Given the description of an element on the screen output the (x, y) to click on. 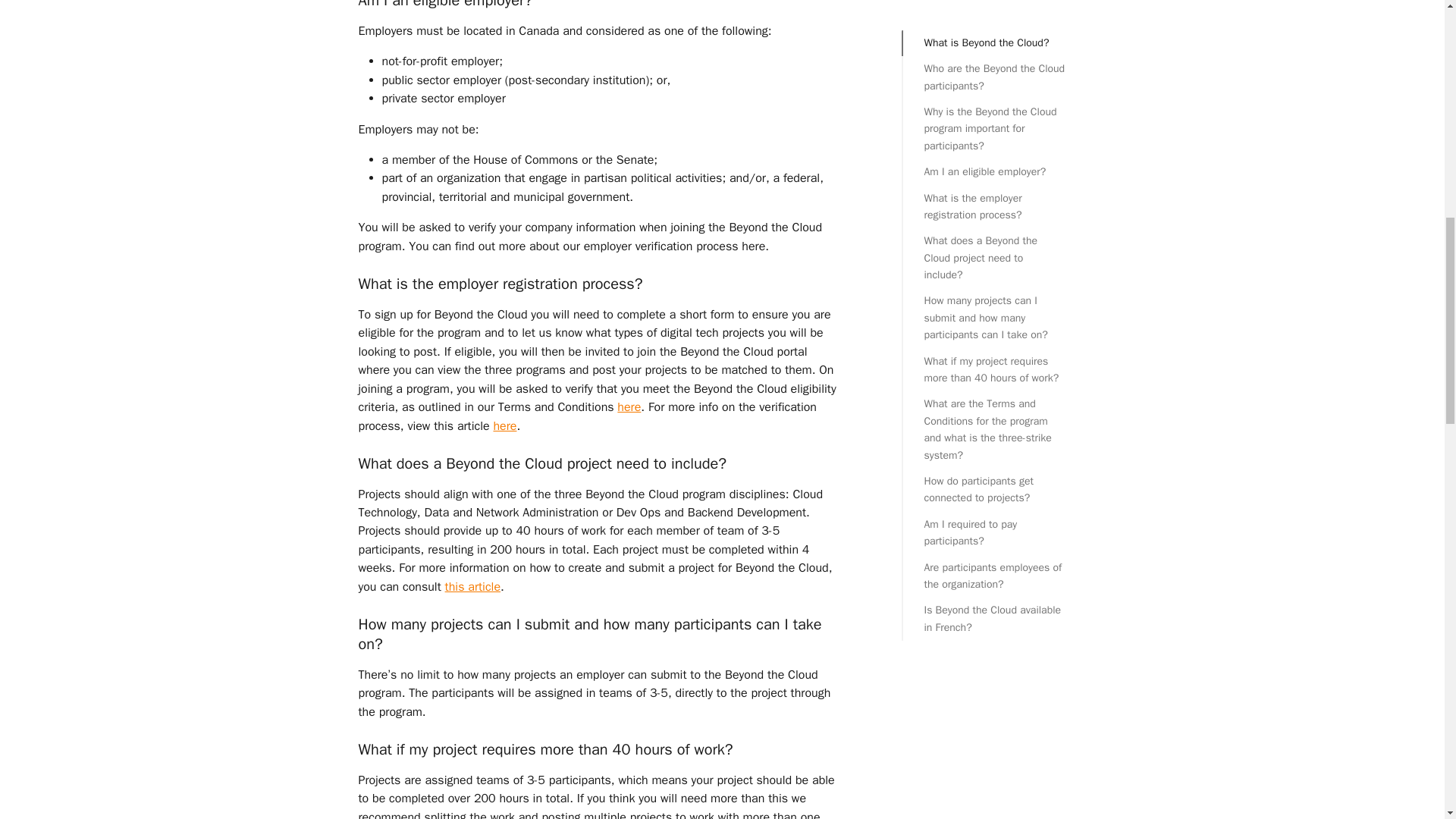
this article (472, 586)
here (628, 406)
here (504, 426)
Is Beyond the Cloud available in French? (993, 5)
